Given the description of an element on the screen output the (x, y) to click on. 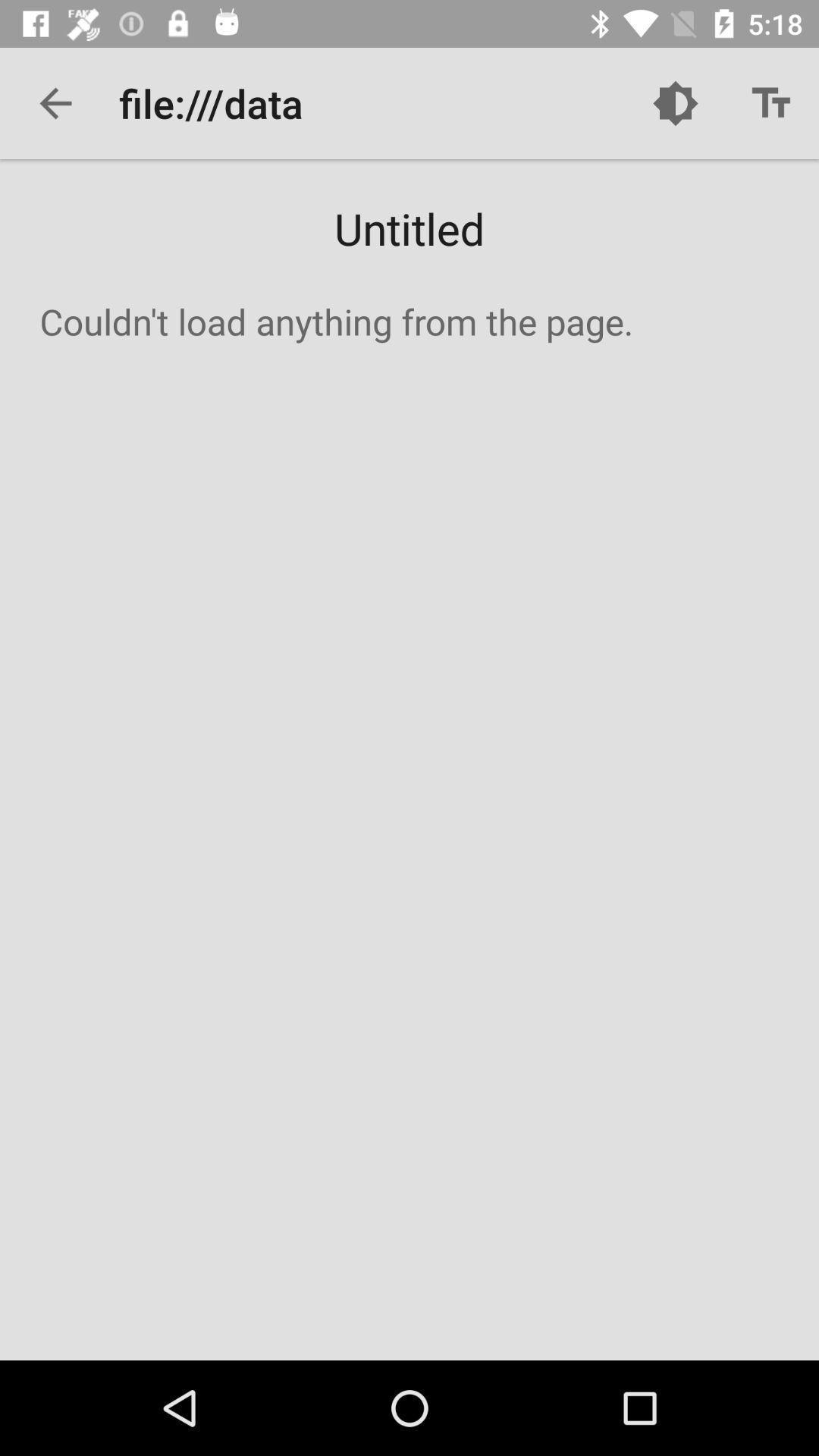
launch the item to the left of file:///data icon (55, 103)
